Given the description of an element on the screen output the (x, y) to click on. 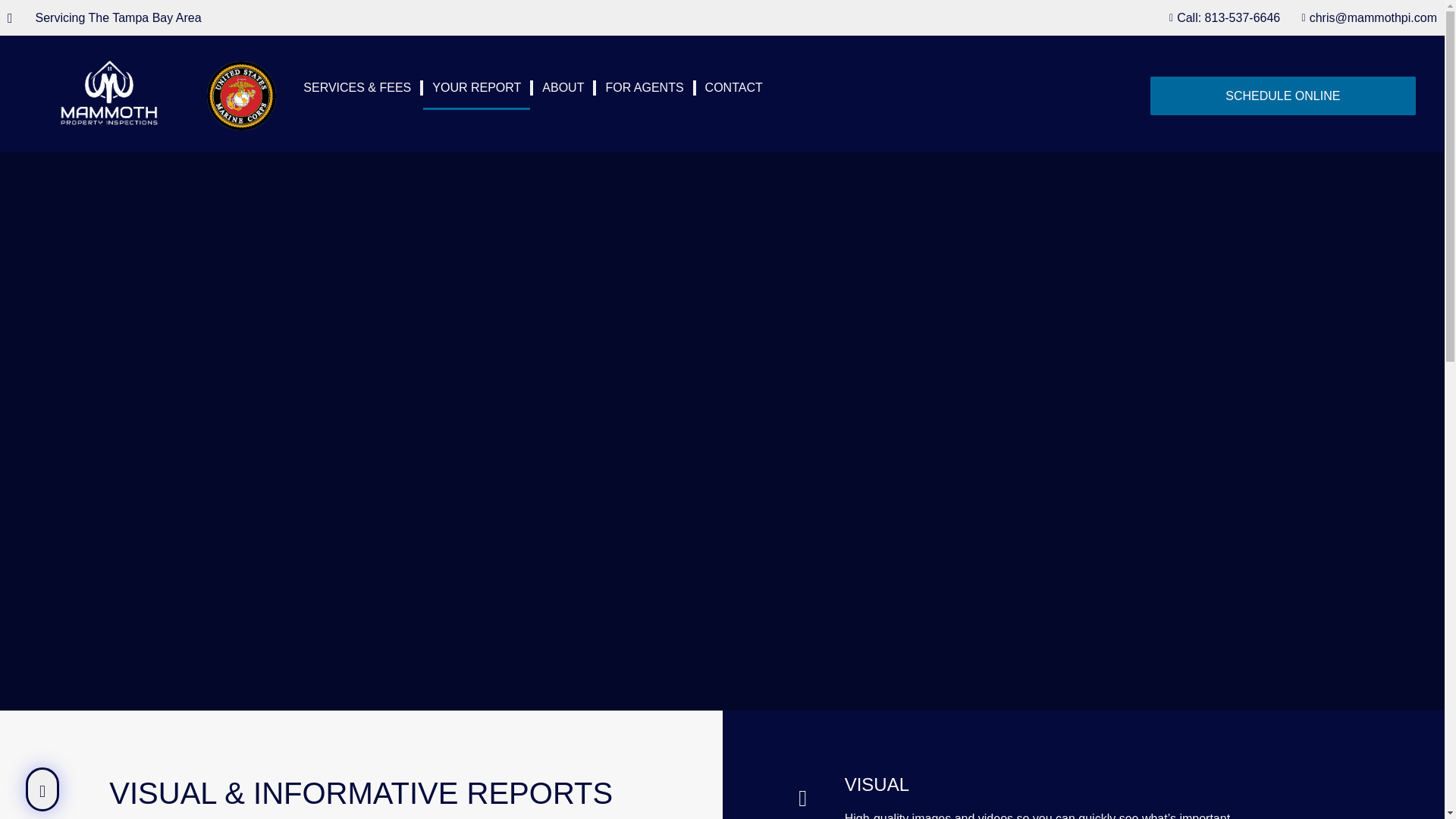
FOR AGENTS (644, 87)
ABOUT (562, 87)
Call: 813-537-6646 (1220, 17)
CONTACT (733, 87)
SCHEDULE ONLINE (1282, 95)
YOUR REPORT (476, 87)
